Given the description of an element on the screen output the (x, y) to click on. 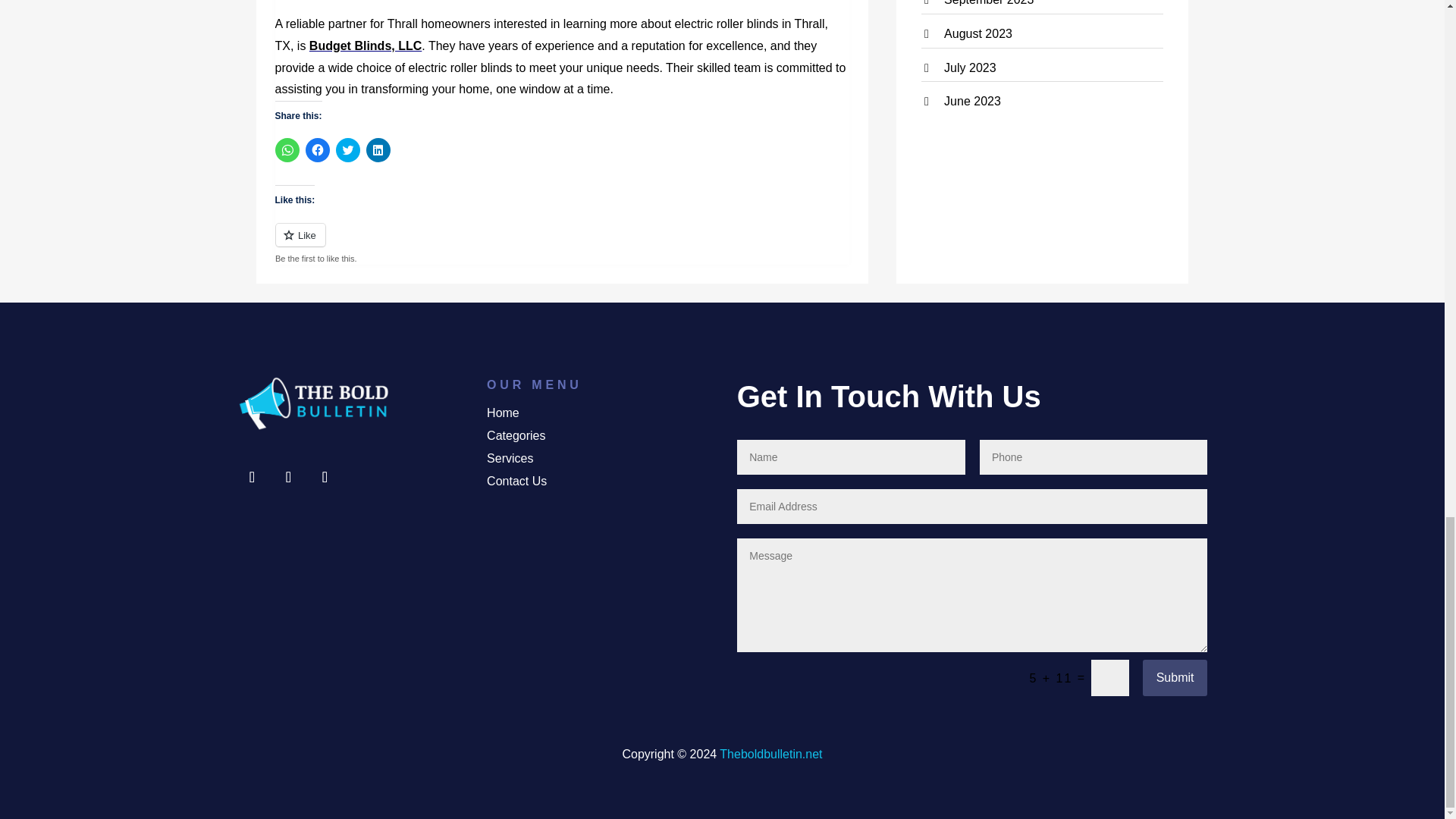
Click to share on LinkedIn (377, 150)
Click to share on Twitter (346, 150)
Click to share on Facebook (316, 150)
Follow on Facebook (250, 476)
Click to share on WhatsApp (286, 150)
Follow on Instagram (323, 476)
Like or Reblog (561, 243)
Budget Blinds, LLC (365, 45)
Follow on Twitter (287, 476)
